Given the description of an element on the screen output the (x, y) to click on. 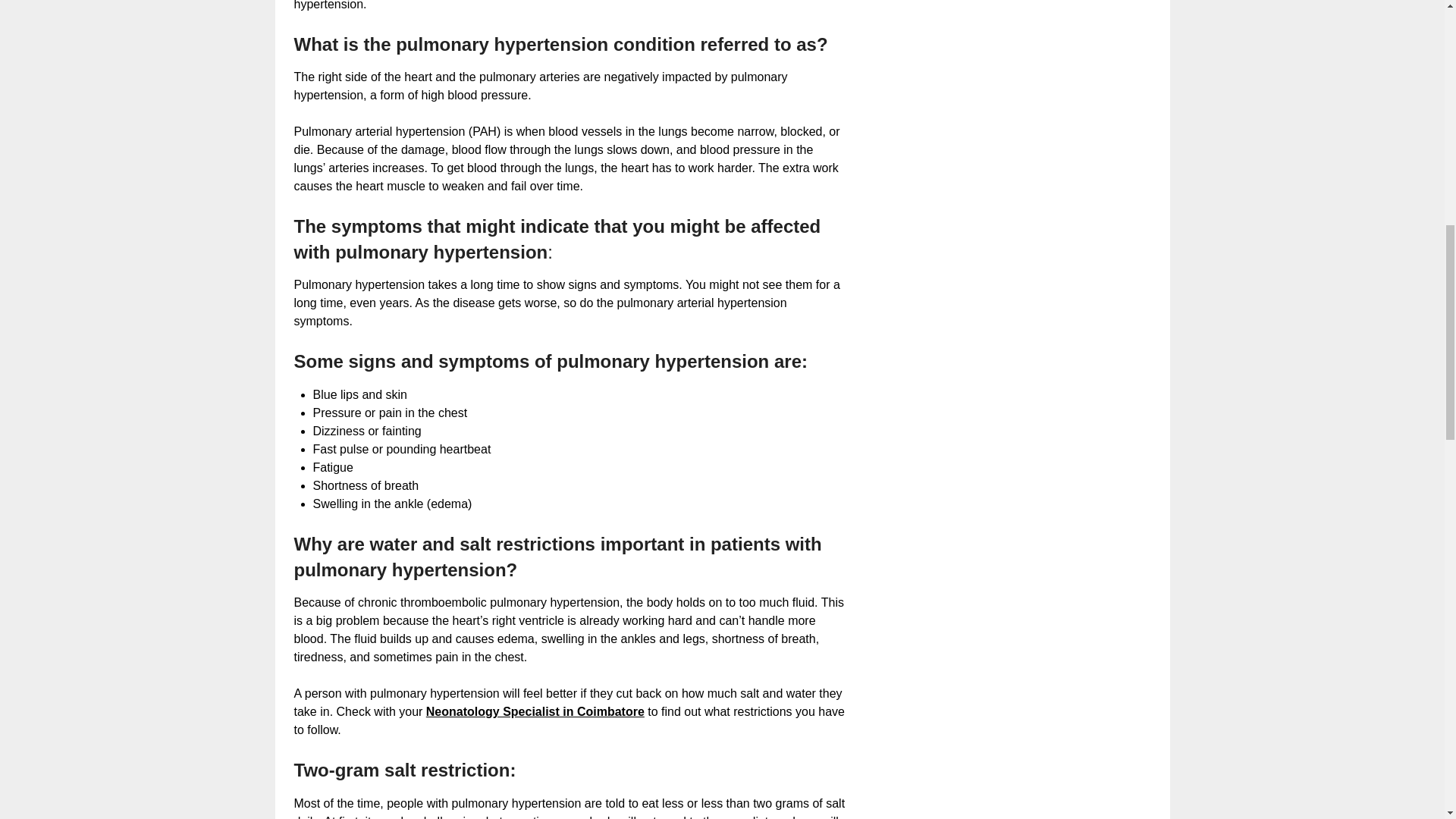
Neonatology Specialist in Coimbatore (535, 711)
